Given the description of an element on the screen output the (x, y) to click on. 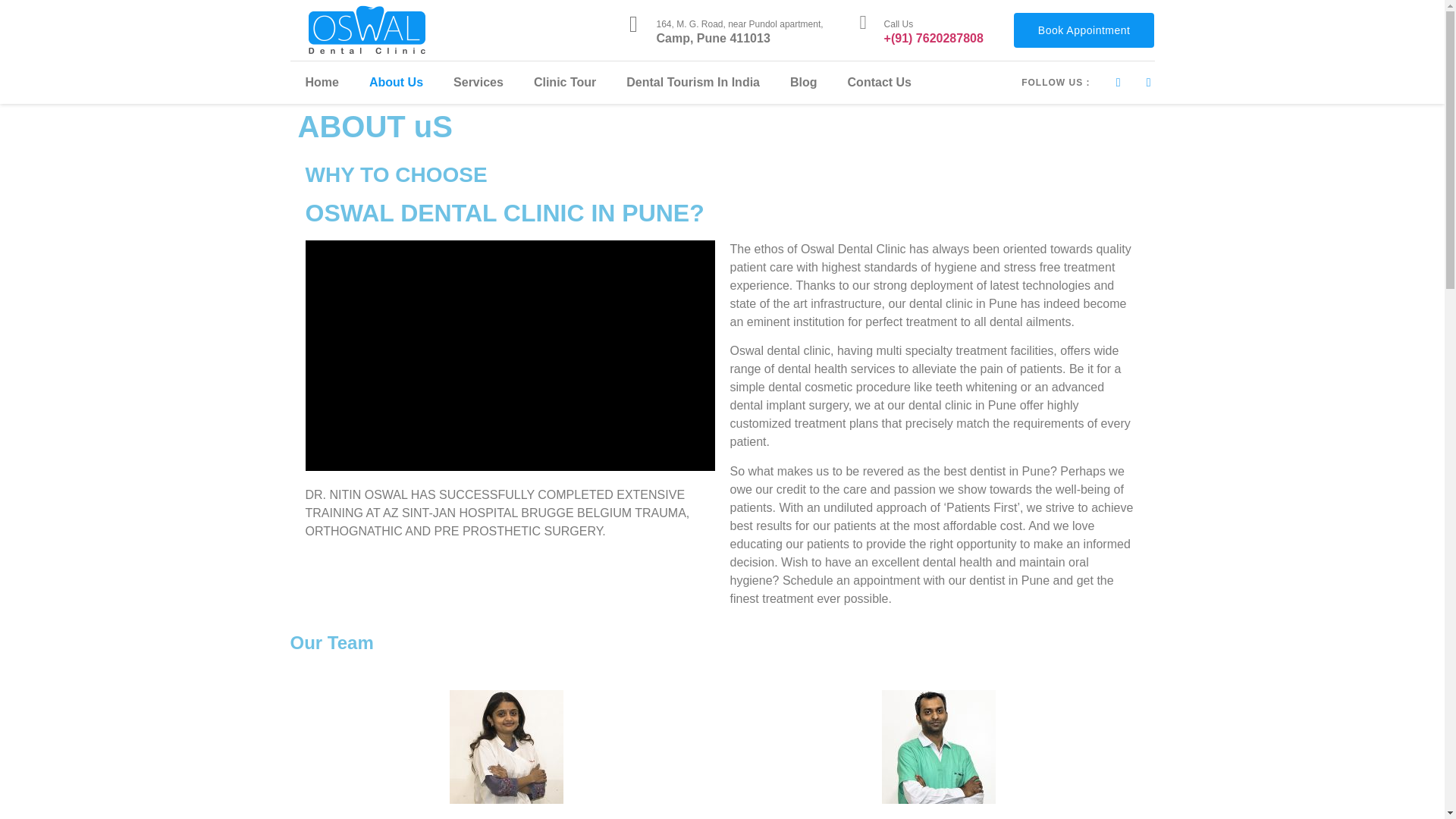
Services (478, 82)
Blog (803, 82)
About Us (395, 82)
Book Appointment (1083, 30)
youtube Video Player (509, 355)
Home (321, 82)
Dental Tourism In India (692, 82)
Contact Us (879, 82)
Clinic Tour (564, 82)
